Given the description of an element on the screen output the (x, y) to click on. 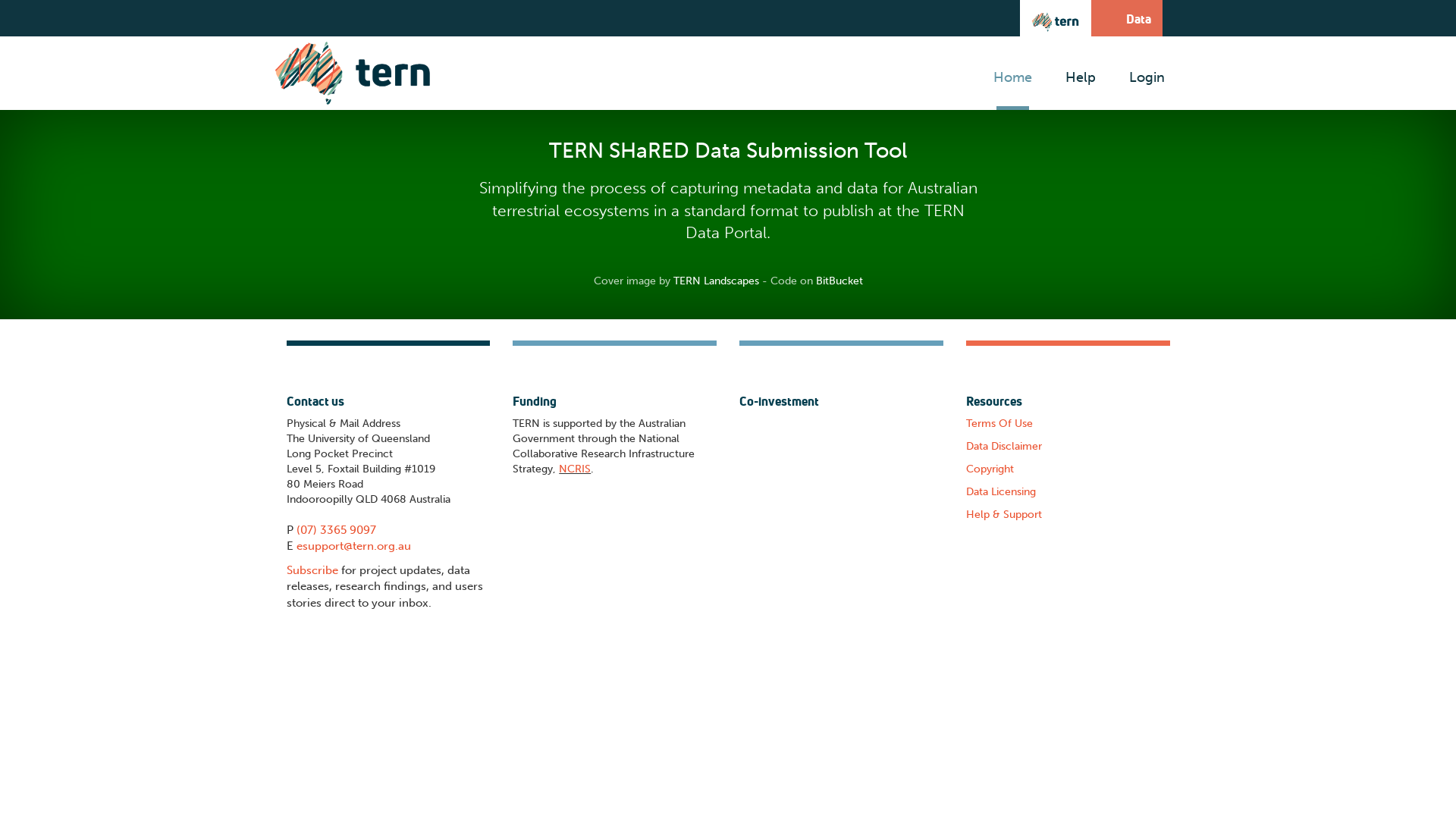
Subscribe Element type: text (312, 570)
TERN Landscapes Element type: text (716, 280)
NCRIS Element type: text (574, 468)
Terms Of Use Element type: text (999, 423)
Copyright Element type: text (989, 468)
Help Element type: text (1079, 72)
Login Element type: text (1145, 72)
esupport@tern.org.au Element type: text (352, 545)
Data Disclaimer Element type: text (1003, 445)
BitBucket Element type: text (838, 280)
Data Licensing Element type: text (1000, 491)
Home Element type: text (1012, 72)
Data Element type: text (1125, 18)
(07) 3365 9097 Element type: text (335, 529)
Help & Support Element type: text (1003, 514)
